Given the description of an element on the screen output the (x, y) to click on. 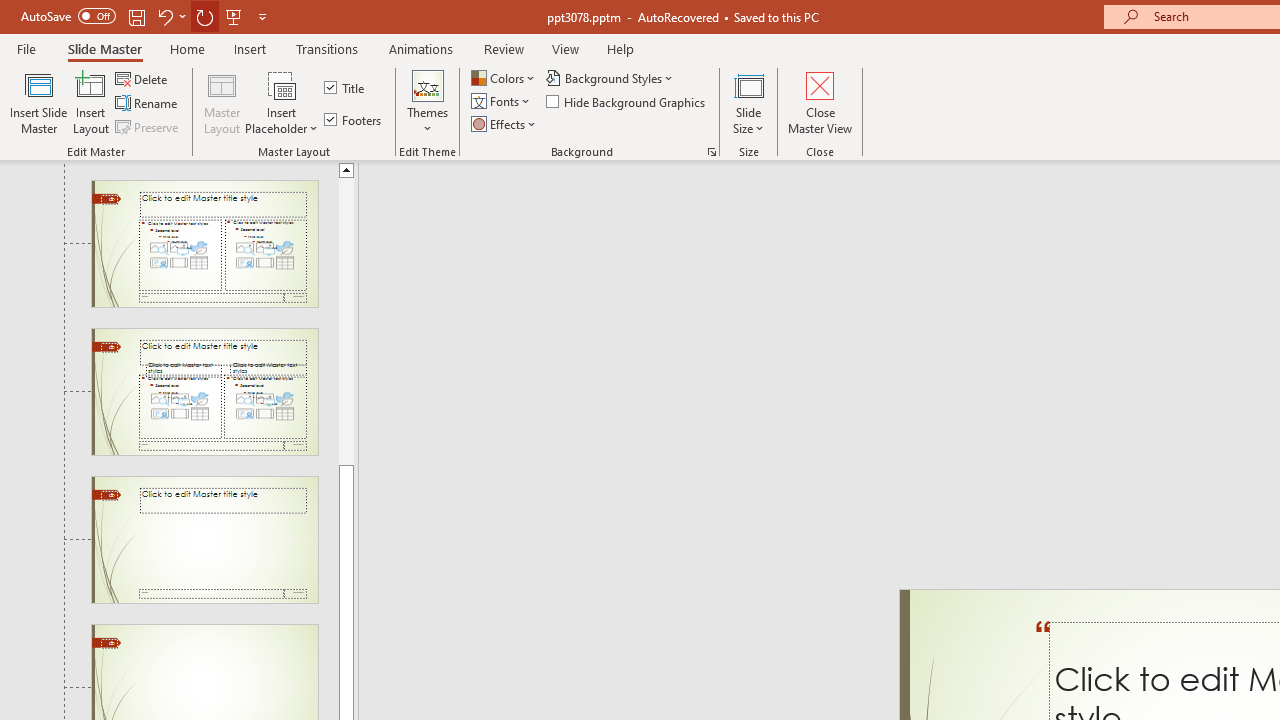
TextBox 13 (1043, 647)
Format Background... (711, 151)
Effects (505, 124)
Preserve (148, 126)
Insert Slide Master (38, 102)
Insert Layout (91, 102)
Hide Background Graphics (626, 101)
